Given the description of an element on the screen output the (x, y) to click on. 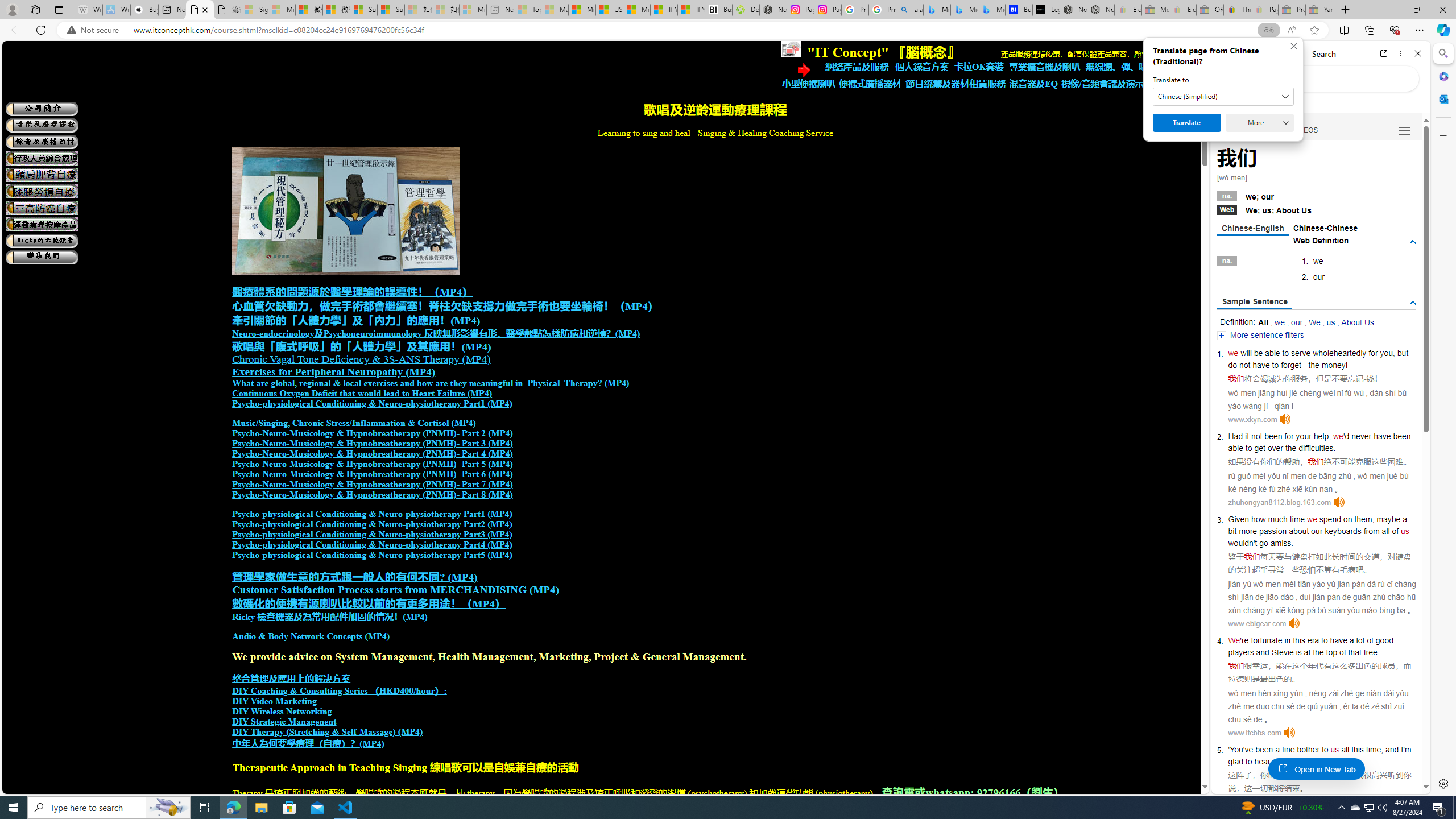
more (1248, 530)
Wikipedia - Sleeping (88, 9)
you (1386, 352)
Search Filter, IMAGES (1265, 129)
Web scope (1230, 102)
Not secure (95, 29)
To get missing image descriptions, open the context menu. (790, 48)
Exercises for Peripheral Neuropathy (MP4) (333, 372)
Threats and offensive language policy | eBay (1236, 9)
